Given the description of an element on the screen output the (x, y) to click on. 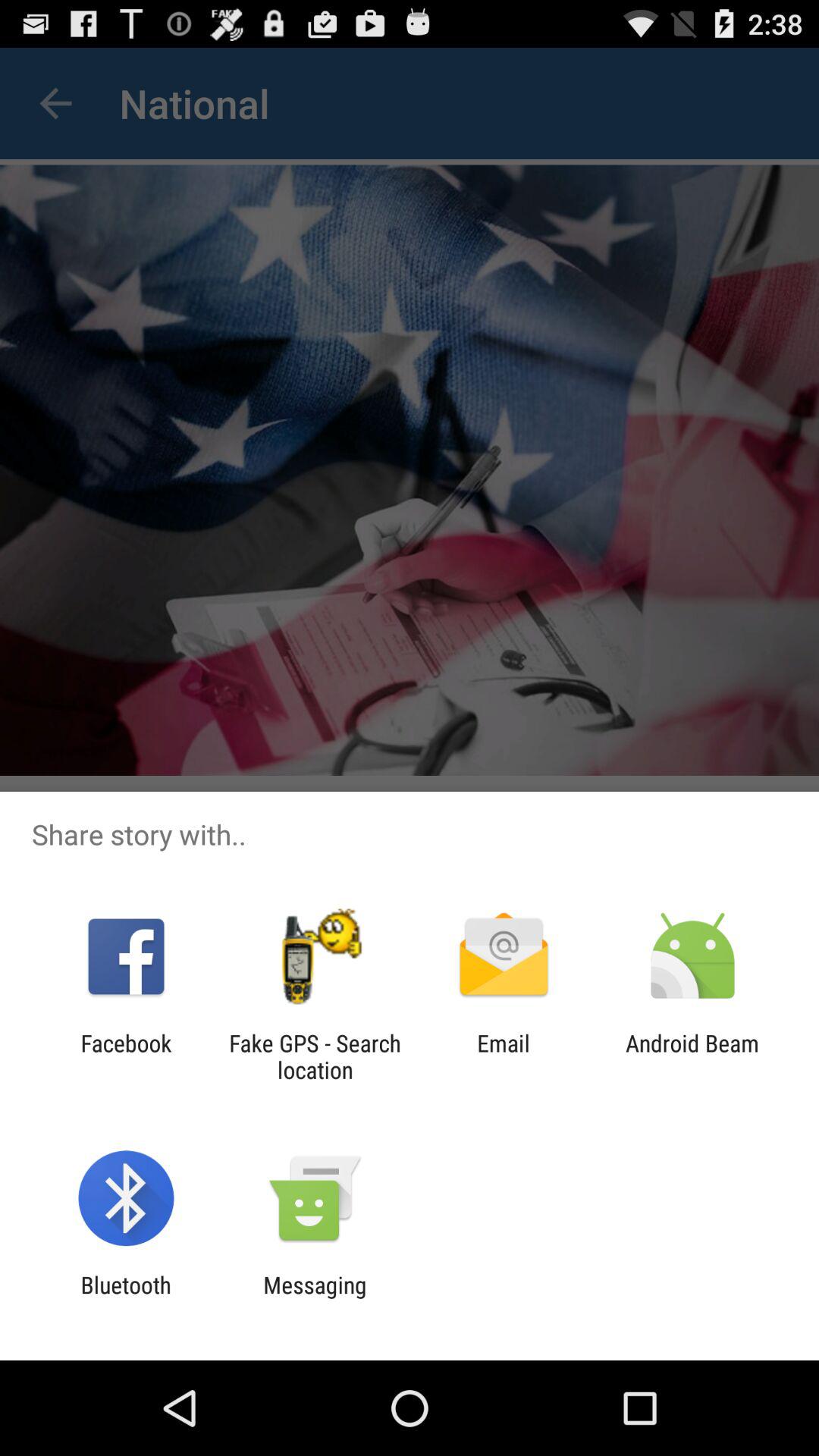
launch icon next to the email (314, 1056)
